Given the description of an element on the screen output the (x, y) to click on. 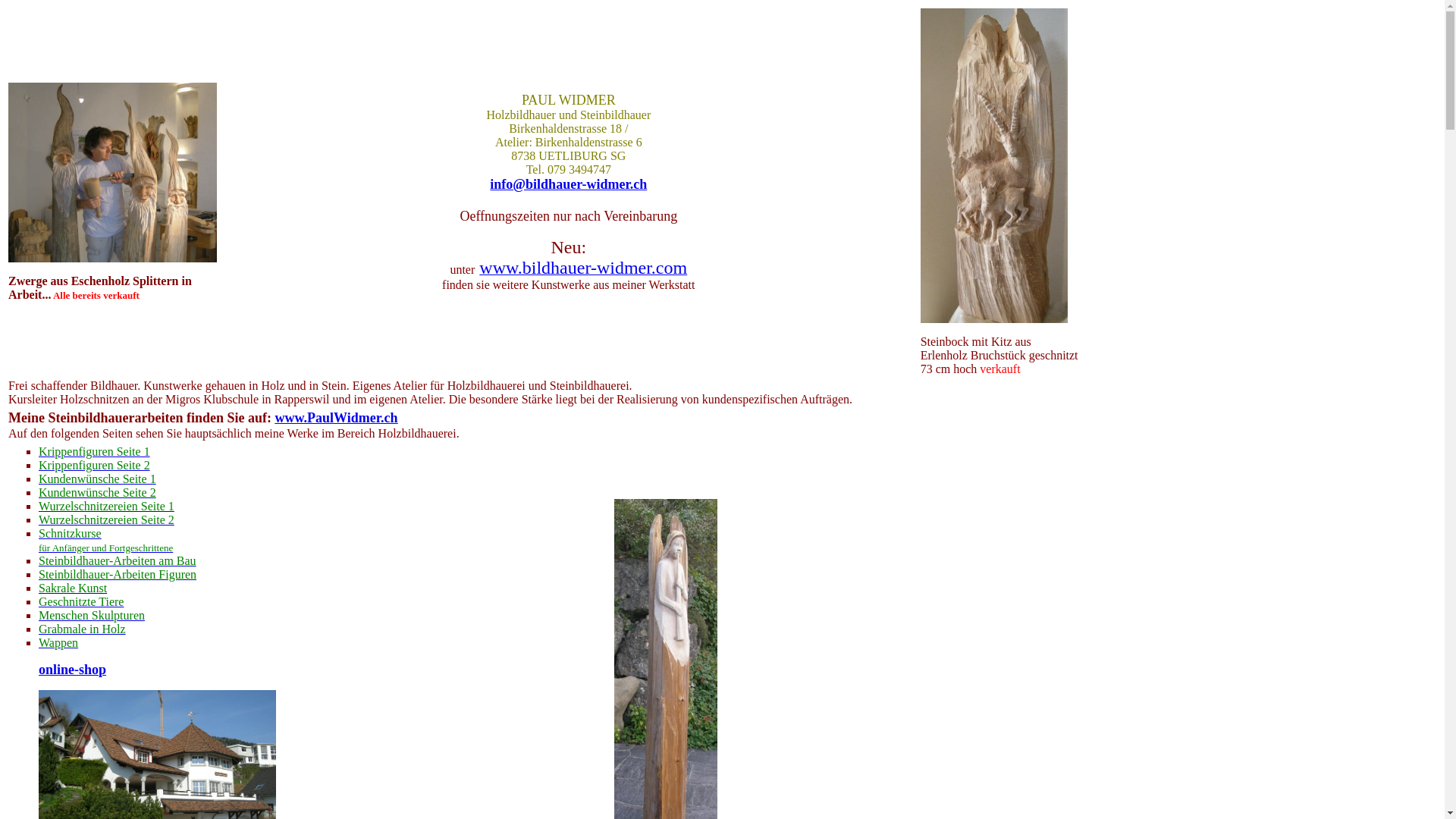
www.PaulWidmer.ch Element type: text (336, 417)
online-shop Element type: text (72, 669)
Wurzelschnitzereien Seite 2 Element type: text (106, 519)
info@bildhauer-widmer.ch Element type: text (567, 184)
Sakrale Kunst Element type: text (72, 587)
Menschen Skulpturen Element type: text (91, 614)
Steinbildhauer-Arbeiten Figuren Element type: text (117, 573)
Steinbildhauer-Arbeiten am Bau Element type: text (117, 560)
Wurzelschnitzereien Seite 1 Element type: text (106, 505)
Geschnitzte Tiere Element type: text (80, 601)
www.bildhauer-widmer.com Element type: text (583, 269)
Krippenfiguren Seite 2 Element type: text (94, 464)
Grabmale in Holz Element type: text (81, 628)
Schnitzkurse Element type: text (69, 533)
Wappen Element type: text (58, 642)
Krippenfiguren Seite 1 Element type: text (94, 451)
